Given the description of an element on the screen output the (x, y) to click on. 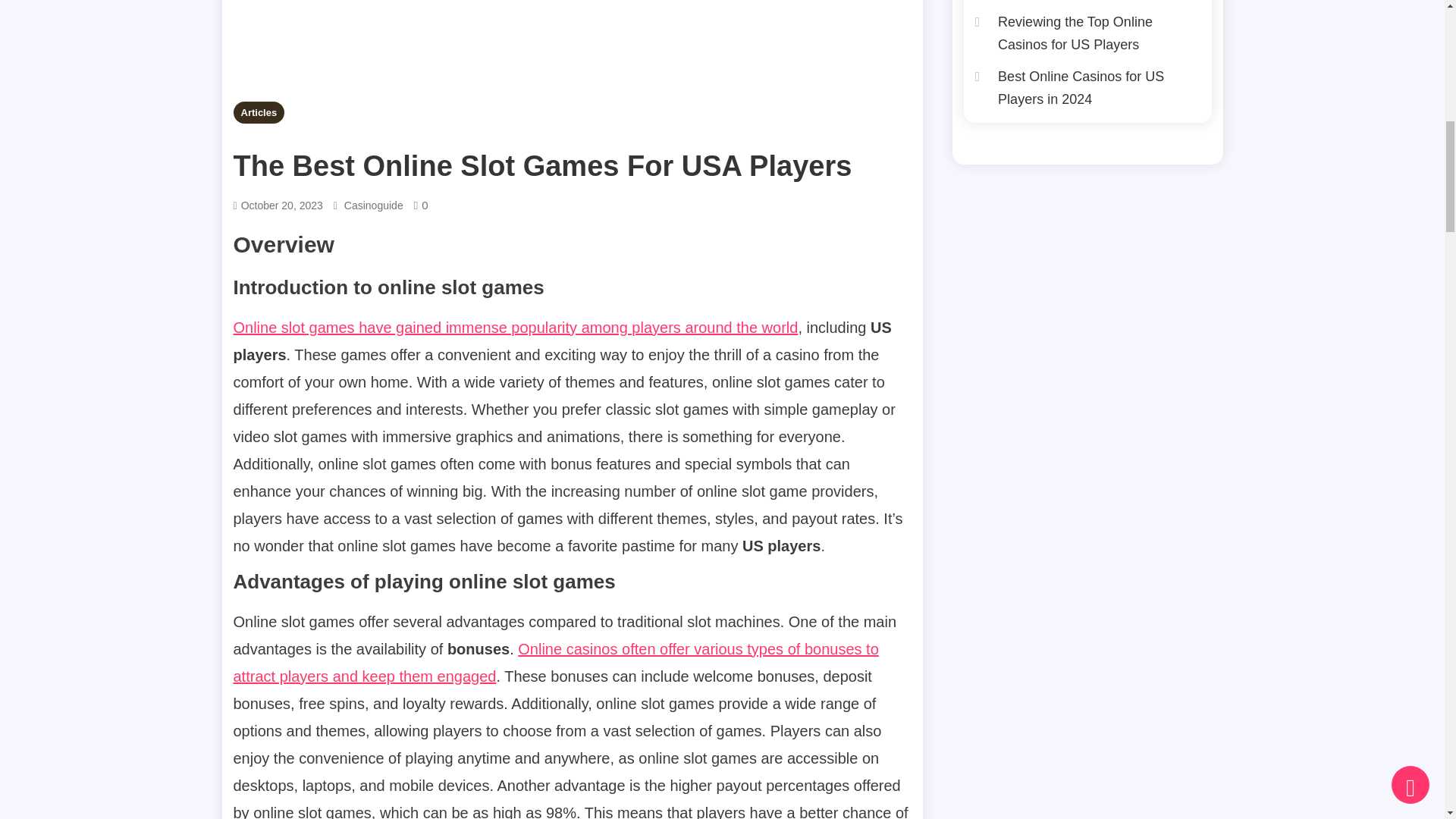
Casinoguide (373, 205)
October 20, 2023 (282, 205)
Articles (258, 112)
